Given the description of an element on the screen output the (x, y) to click on. 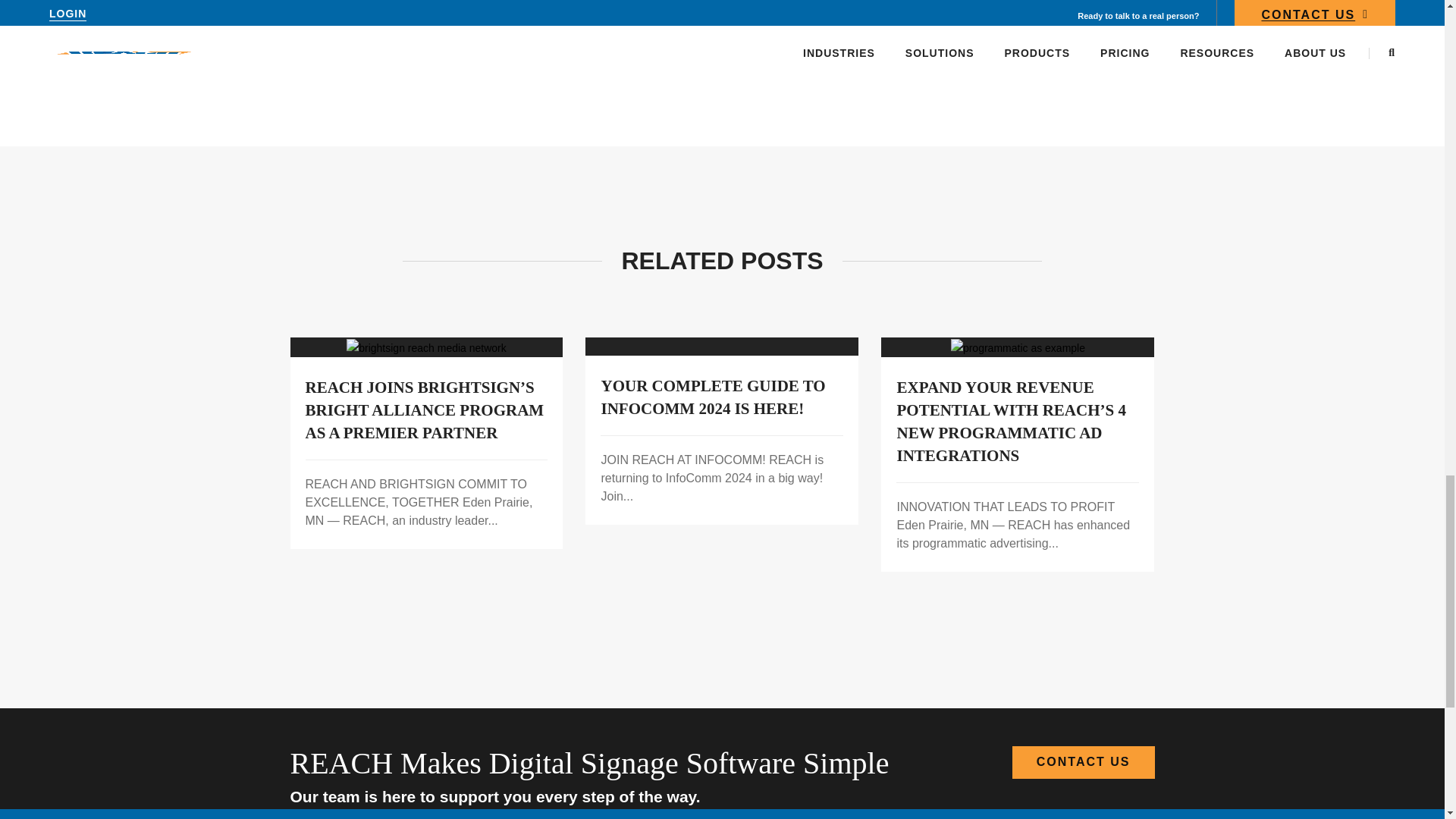
brightsign reach media network - REACH Media Network (426, 348)
Programmatic Ads Office Example - REACH Media Network (1017, 348)
